Given the description of an element on the screen output the (x, y) to click on. 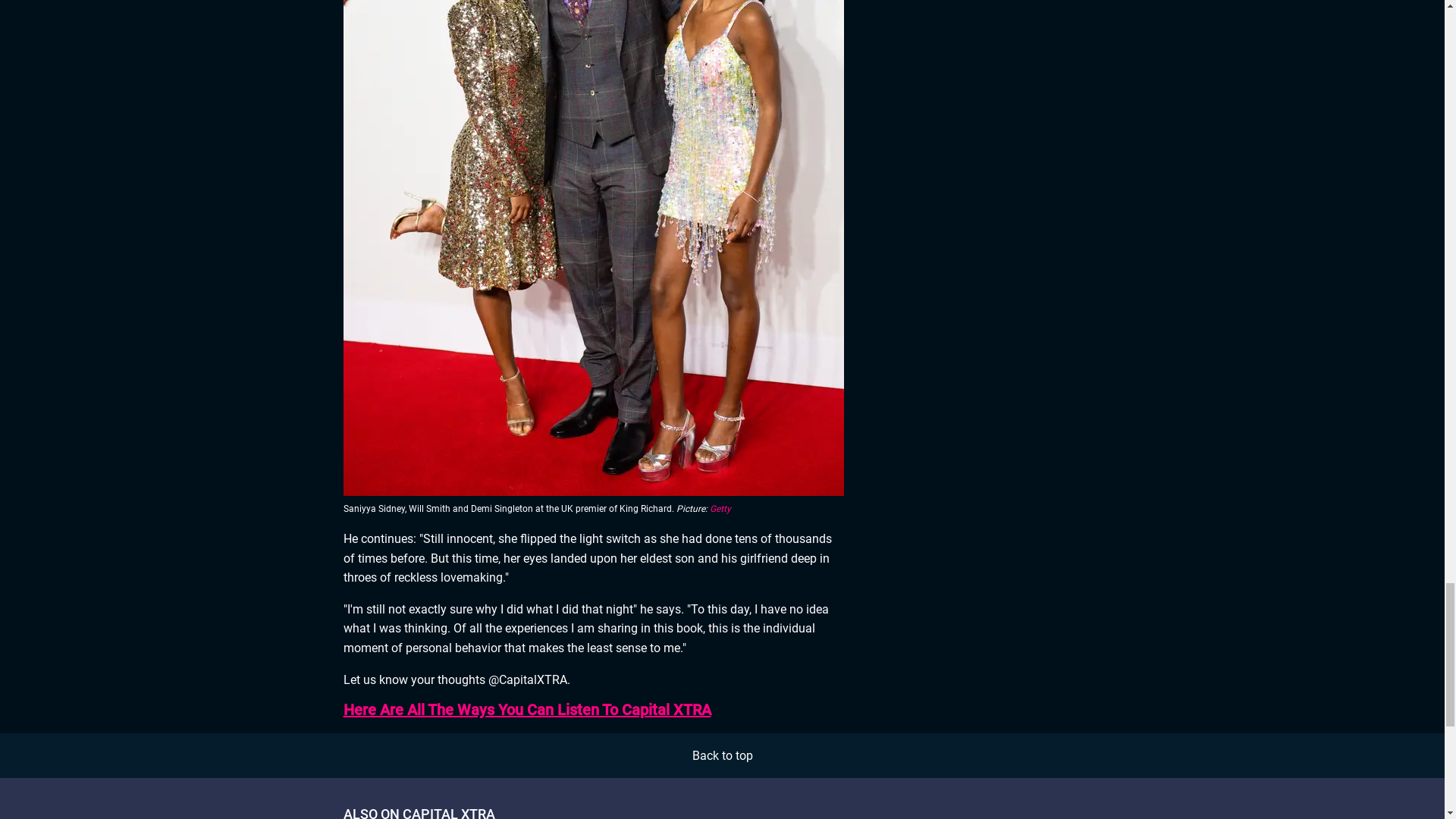
Back to top (721, 755)
